Given the description of an element on the screen output the (x, y) to click on. 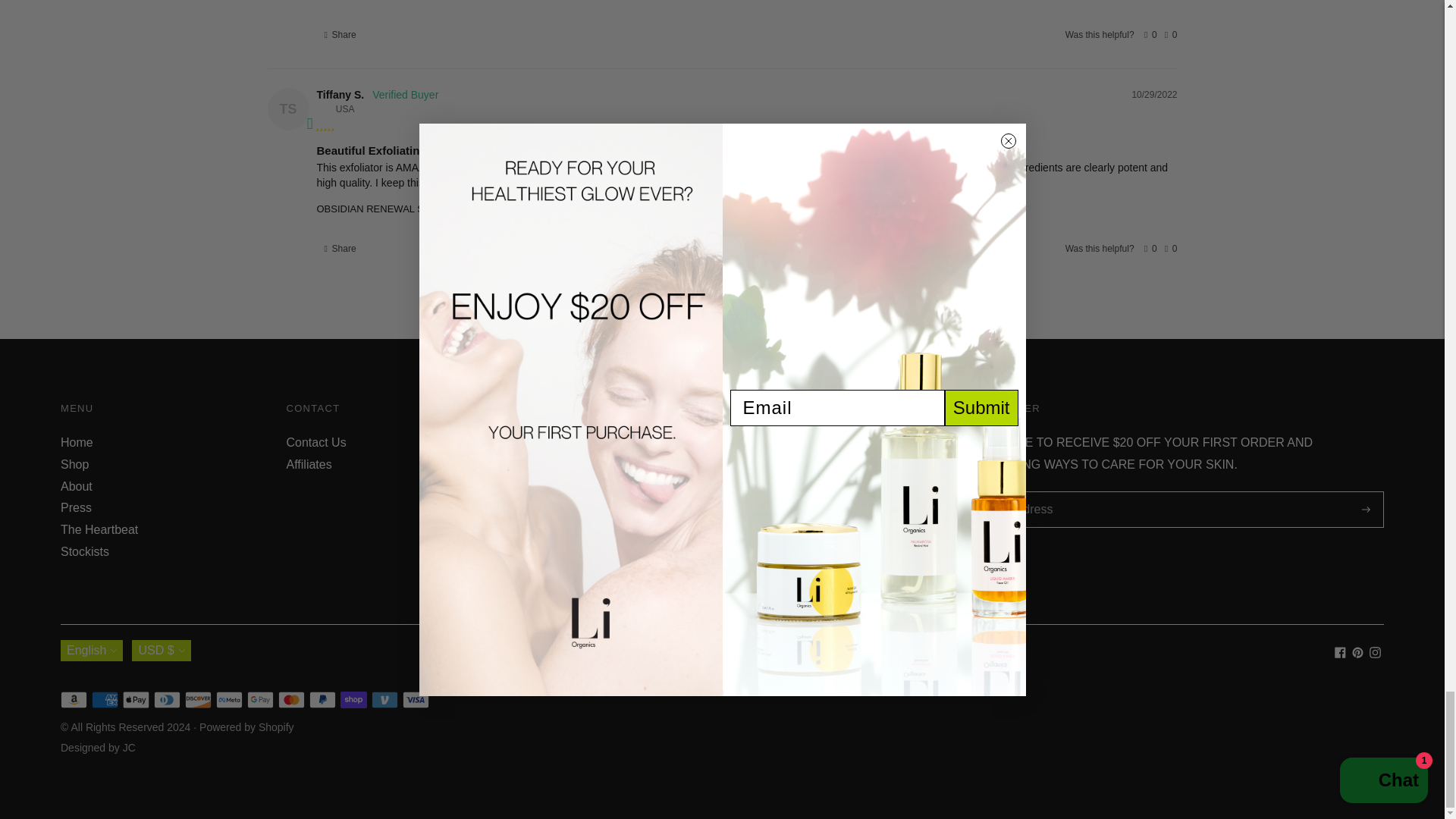
Discover (197, 700)
Meta Pay (229, 700)
Amazon (74, 700)
American Express (104, 700)
Diners Club (167, 700)
Apple Pay (135, 700)
